Given the description of an element on the screen output the (x, y) to click on. 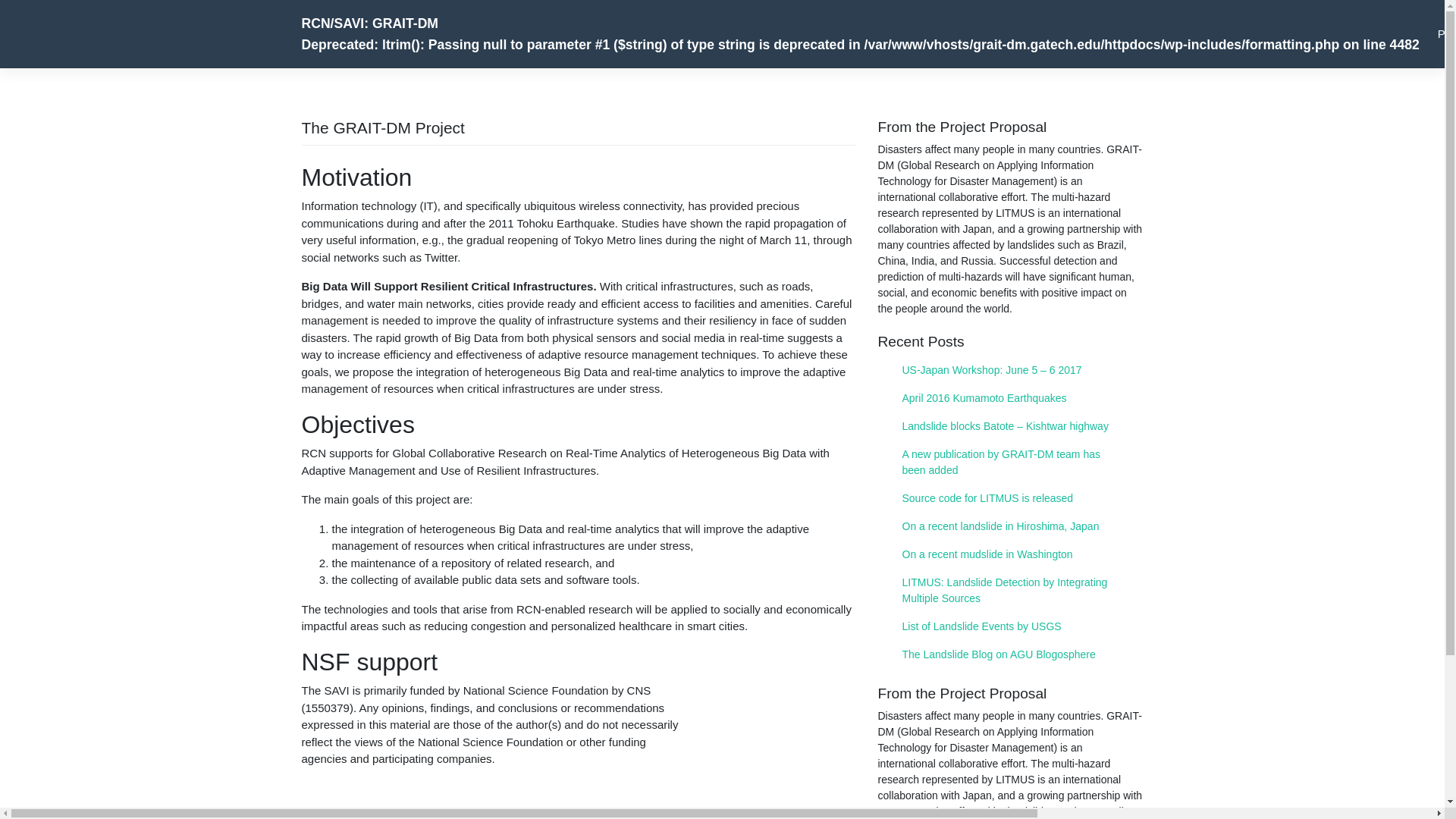
LITMUS: Landslide Detection by Integrating Multiple Sources (1009, 590)
A new publication by GRAIT-DM team has been added (1009, 462)
List of Landslide Events by USGS (1009, 626)
April 2016 Kumamoto Earthquakes (1009, 398)
The Landslide Blog on AGU Blogosphere (1009, 654)
Source code for LITMUS is released (1009, 498)
On a recent landslide in Hiroshima, Japan (1009, 526)
On a recent mudslide in Washington (1009, 554)
